Given the description of an element on the screen output the (x, y) to click on. 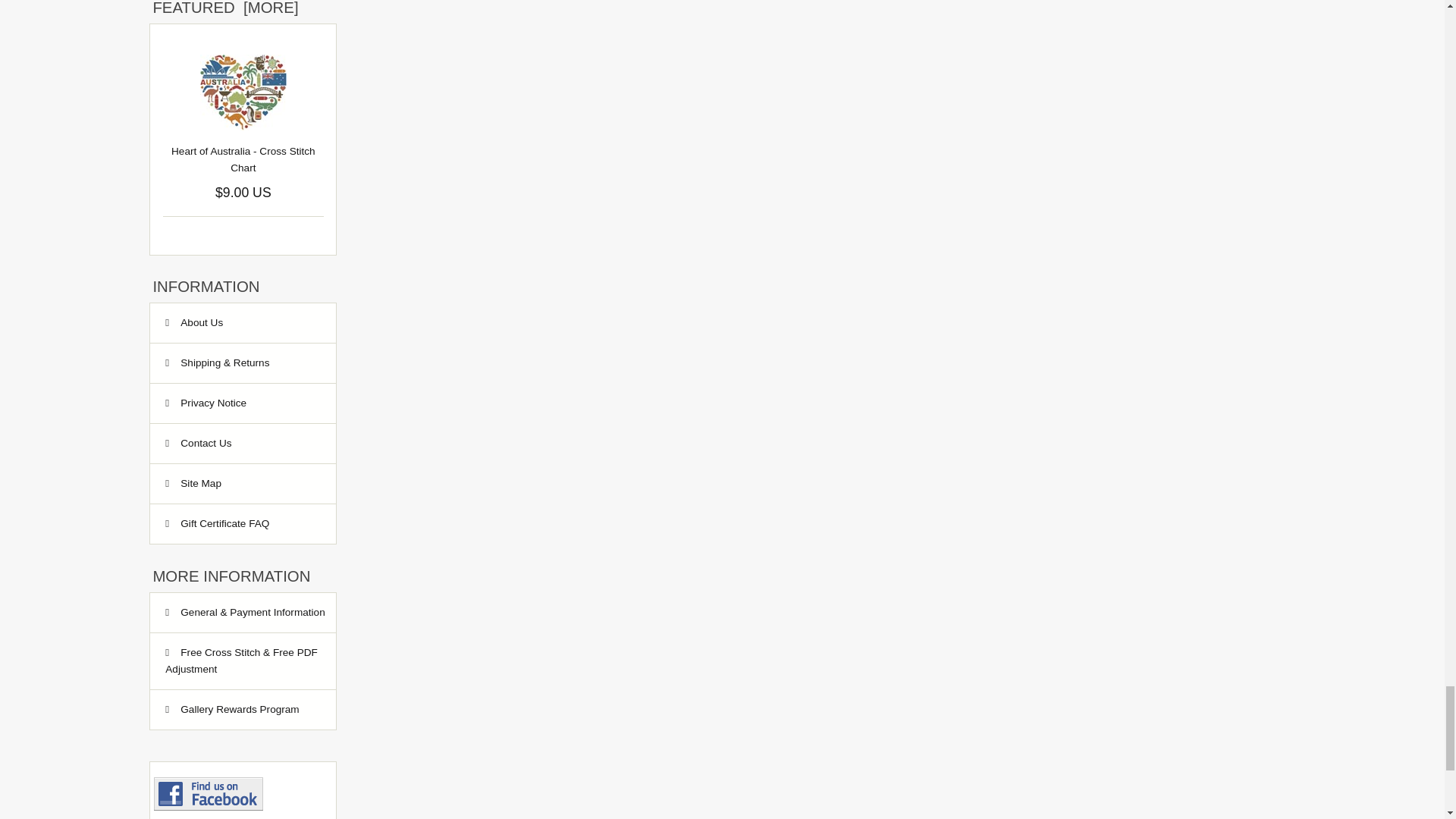
Heart of Australia - Cross Stitch Chart (243, 92)
